Given the description of an element on the screen output the (x, y) to click on. 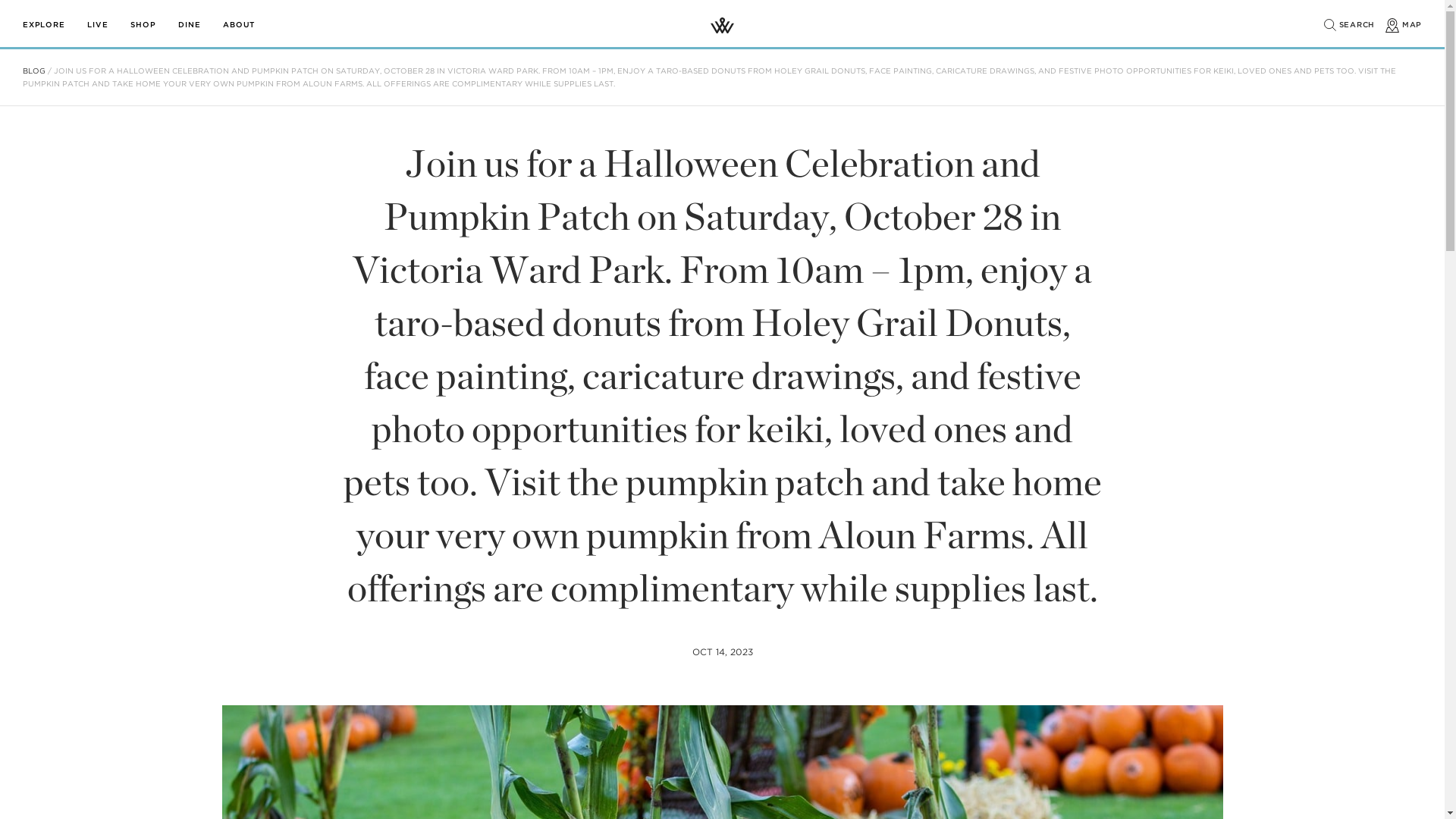
SHOP (143, 24)
DINE (189, 24)
EXPLORE (43, 24)
ABOUT (238, 24)
